Given the description of an element on the screen output the (x, y) to click on. 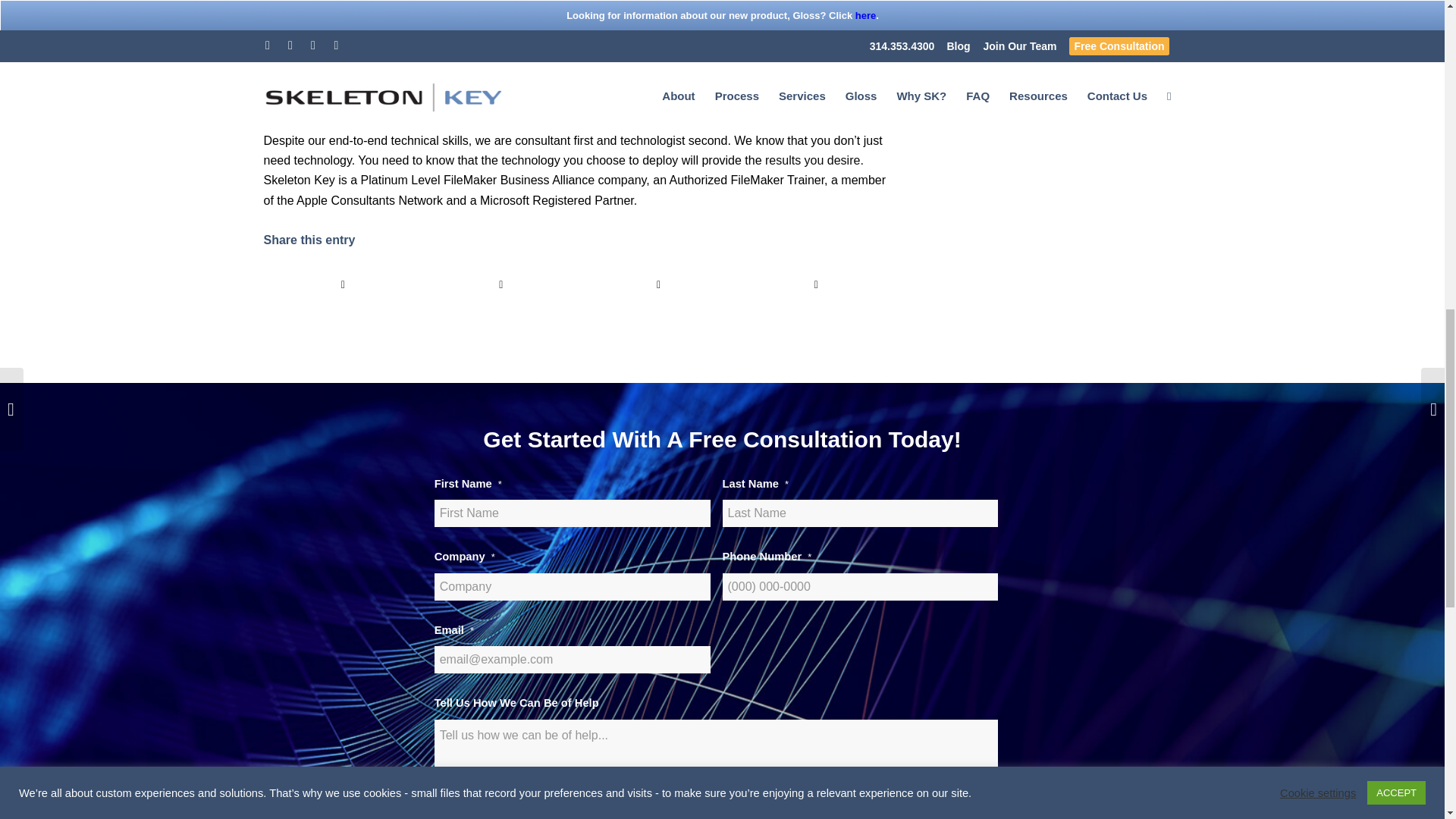
Skeleton Key (770, 79)
results you desire. (812, 160)
Skeleton Key (575, 79)
professional workplace, (628, 119)
Jason Thomas (303, 79)
rapid development (836, 100)
team (354, 100)
training (863, 119)
integrating Macs and PCs (459, 119)
